Given the description of an element on the screen output the (x, y) to click on. 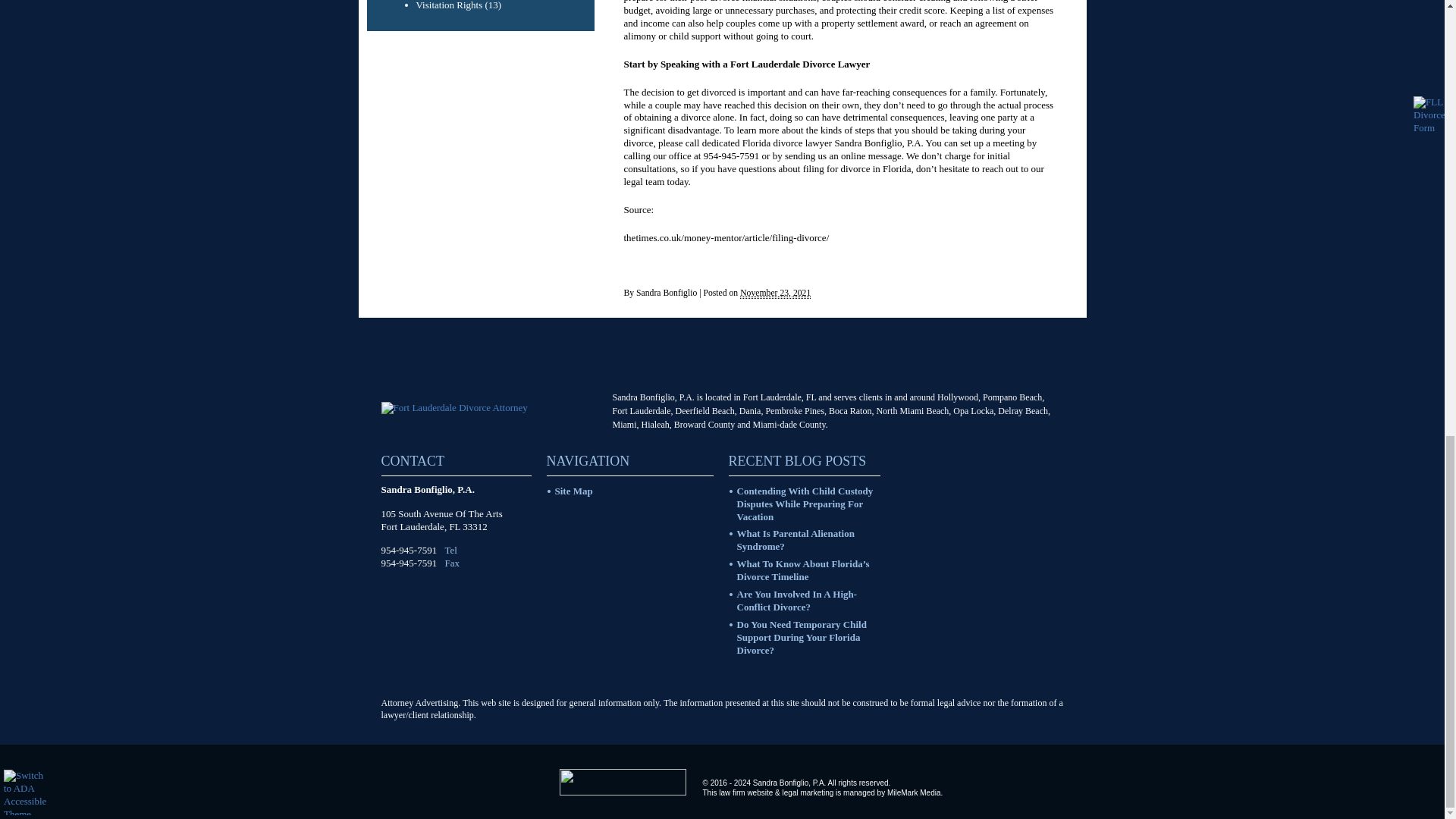
2021-11-23T02:35:06-0800 (774, 293)
